Given the description of an element on the screen output the (x, y) to click on. 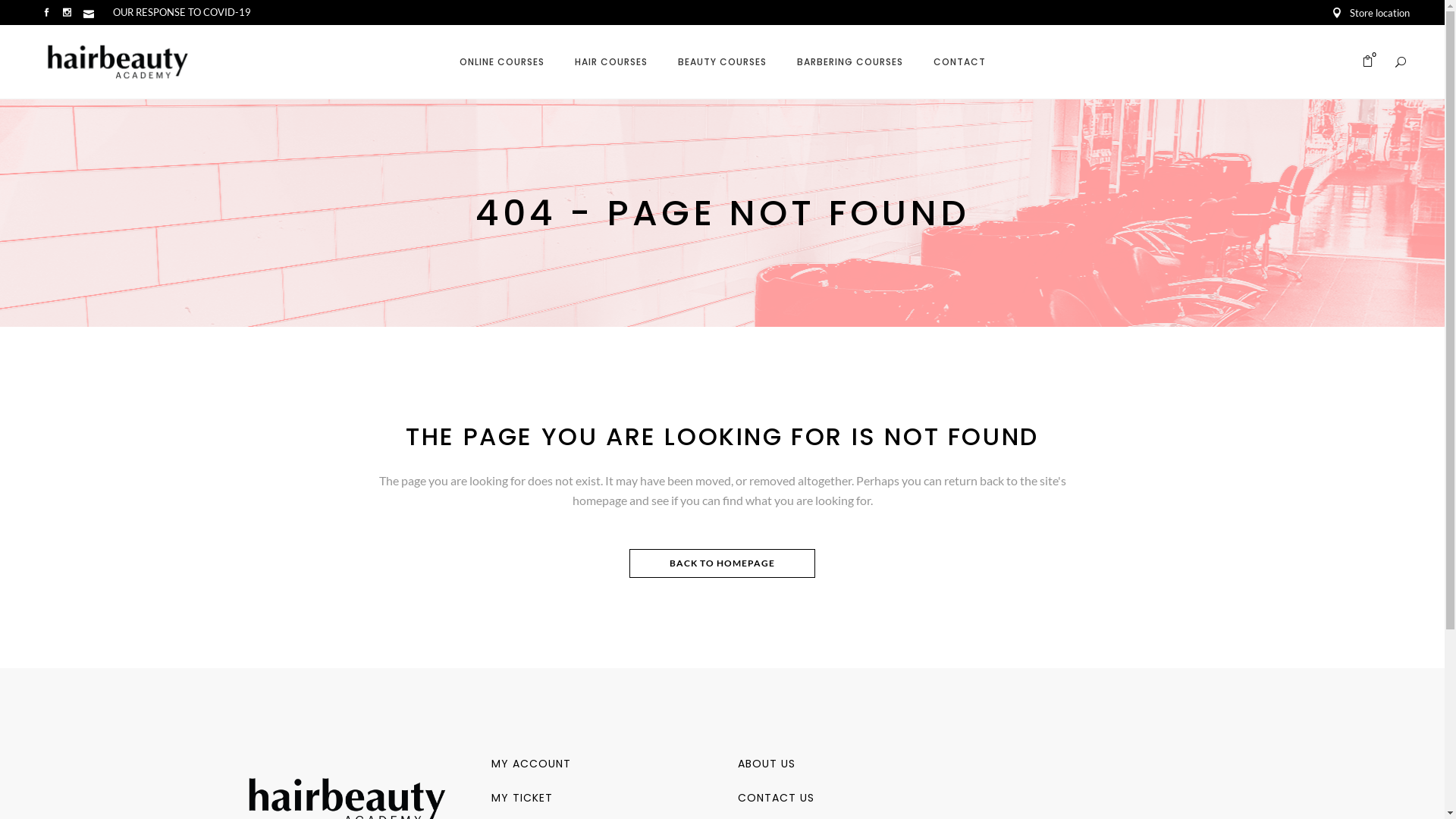
OUR RESPONSE TO COVID-19 Element type: text (181, 12)
ONLINE COURSES Element type: text (501, 61)
HAIR COURSES Element type: text (610, 61)
BEAUTY COURSES Element type: text (721, 61)
MY ACCOUNT Element type: text (531, 763)
BACK TO HOMEPAGE Element type: text (722, 563)
BARBERING COURSES Element type: text (849, 61)
CONTACT US Element type: text (775, 797)
ABOUT US Element type: text (765, 763)
0 Element type: text (1367, 61)
CONTACT Element type: text (958, 61)
MY TICKET Element type: text (521, 797)
